Given the description of an element on the screen output the (x, y) to click on. 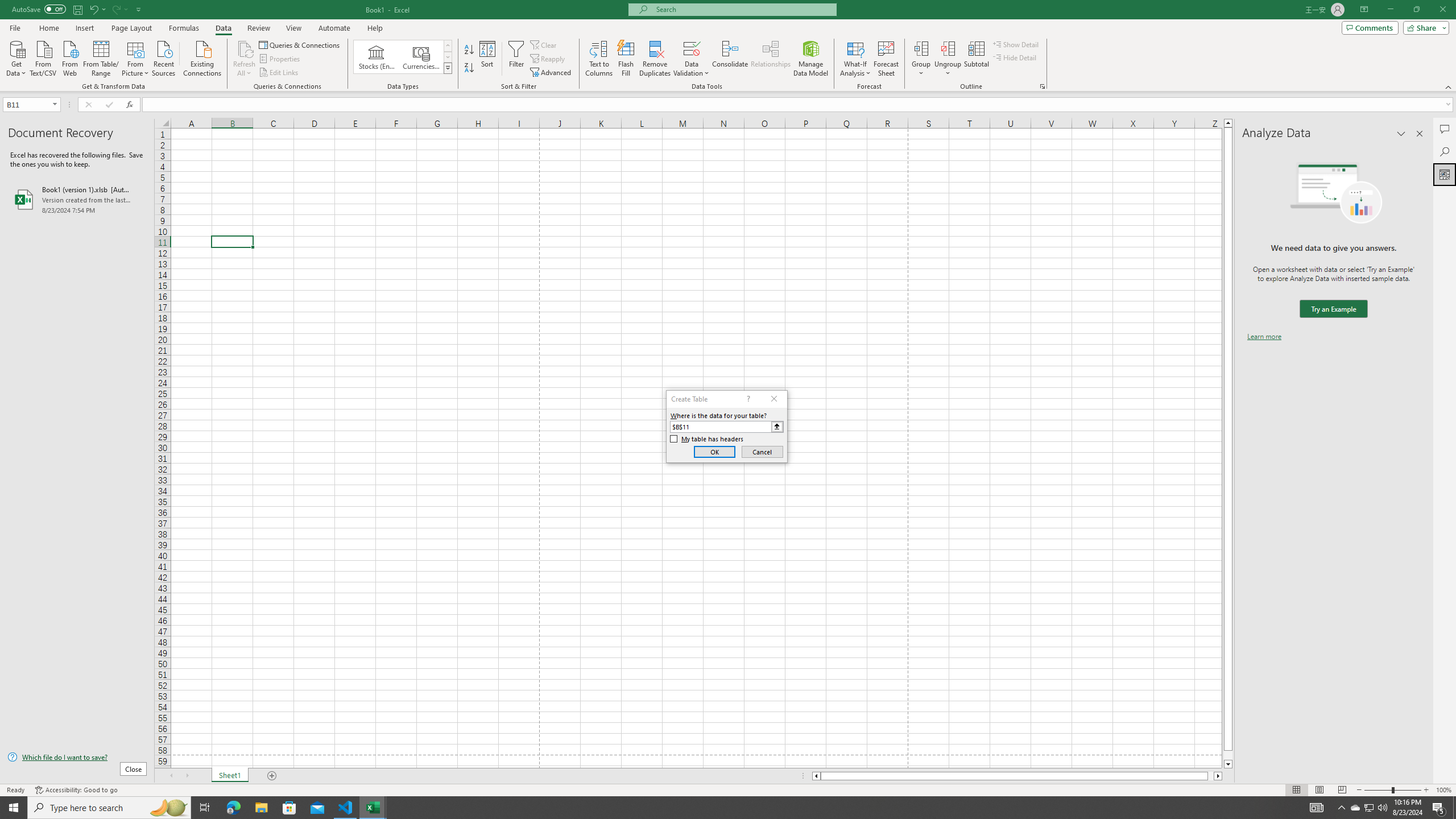
Page right (1211, 775)
Ribbon Display Options (1364, 9)
Accessibility Checker Accessibility: Good to go (76, 790)
Analyze Data (1444, 173)
Microsoft search (742, 9)
Subtotal (976, 58)
From Table/Range (100, 57)
Search (1444, 151)
Sort A to Z (469, 49)
Column right (1218, 775)
Text to Columns... (598, 58)
Data Validation... (691, 48)
Zoom Out (1377, 790)
